Given the description of an element on the screen output the (x, y) to click on. 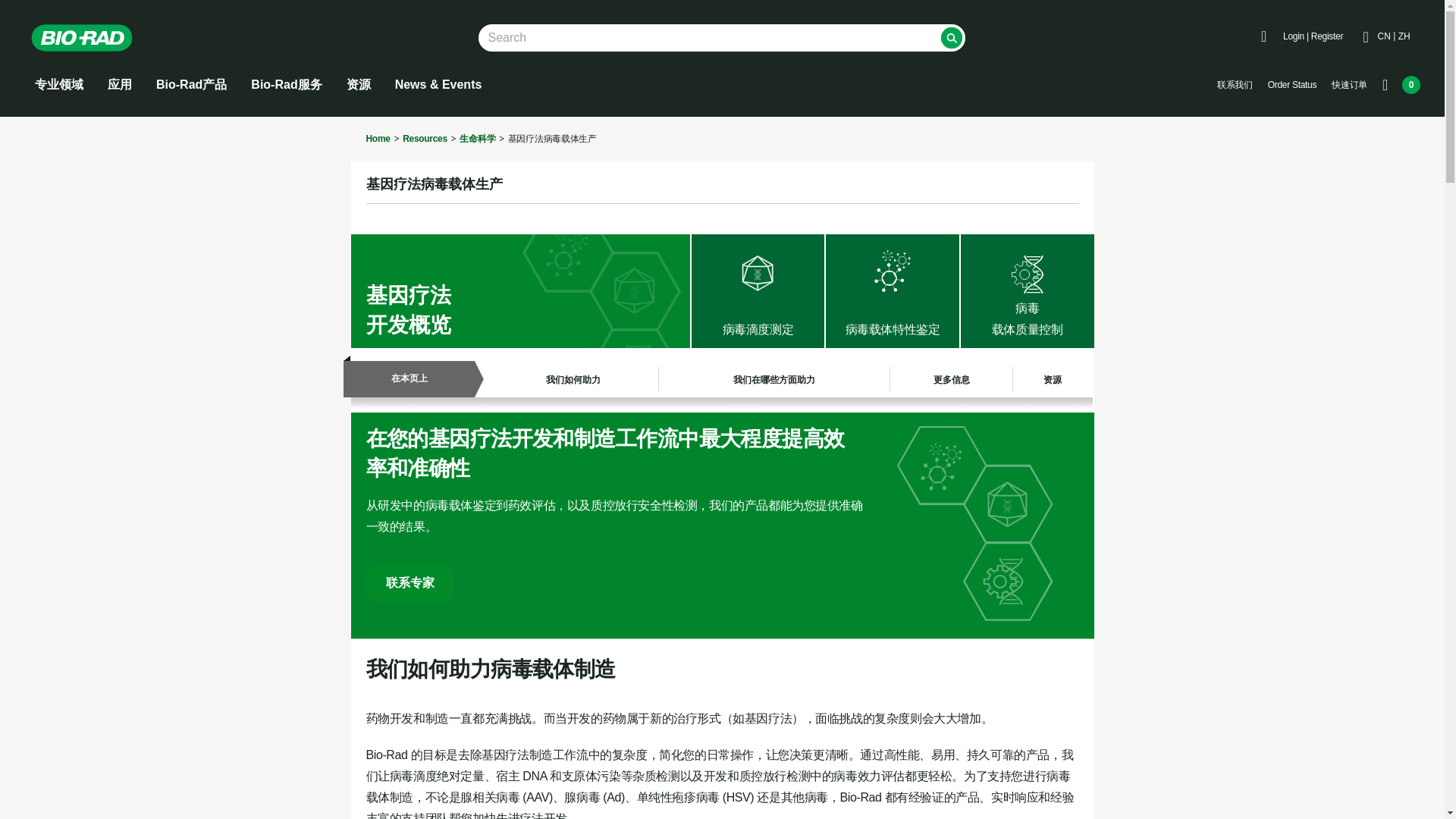
Search (951, 37)
Bio-Rad (81, 37)
Search (951, 37)
0 (1401, 84)
Order Status (1291, 84)
Order Status (1291, 84)
Shopping Cart (1401, 84)
Bio-Rad (92, 37)
